Given the description of an element on the screen output the (x, y) to click on. 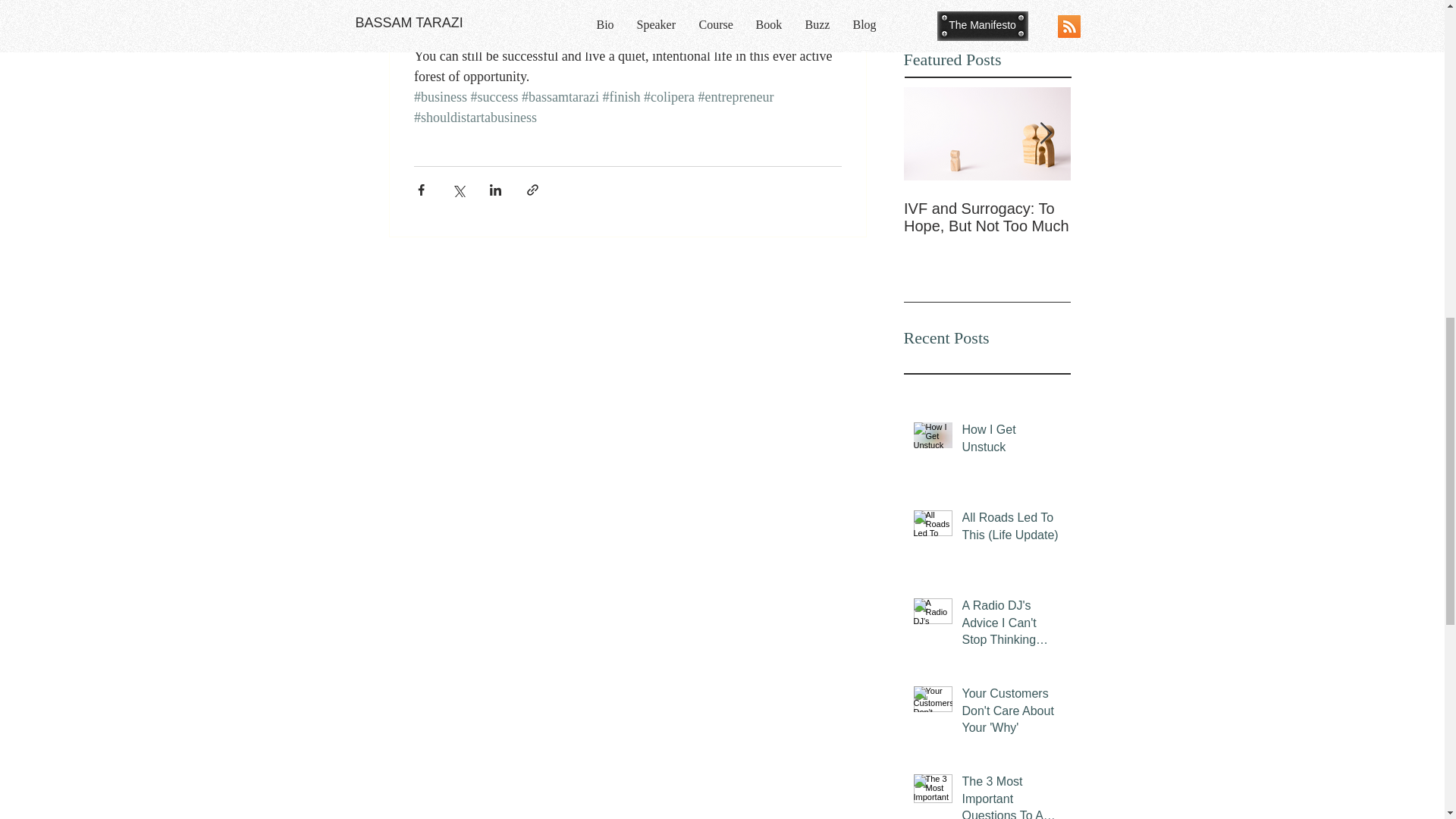
Your Customers Don't Care About Your 'Why' (1010, 713)
IVF and Surrogacy: To Hope, But Not Too Much (987, 217)
How I Get Unstuck (1010, 441)
A Radio DJ's Advice I Can't Stop Thinking About (1010, 625)
The 3 Most Important Questions To Ask Yourself (1010, 796)
Why Companies Secretly Love Quiet Quitting (1153, 225)
